Given the description of an element on the screen output the (x, y) to click on. 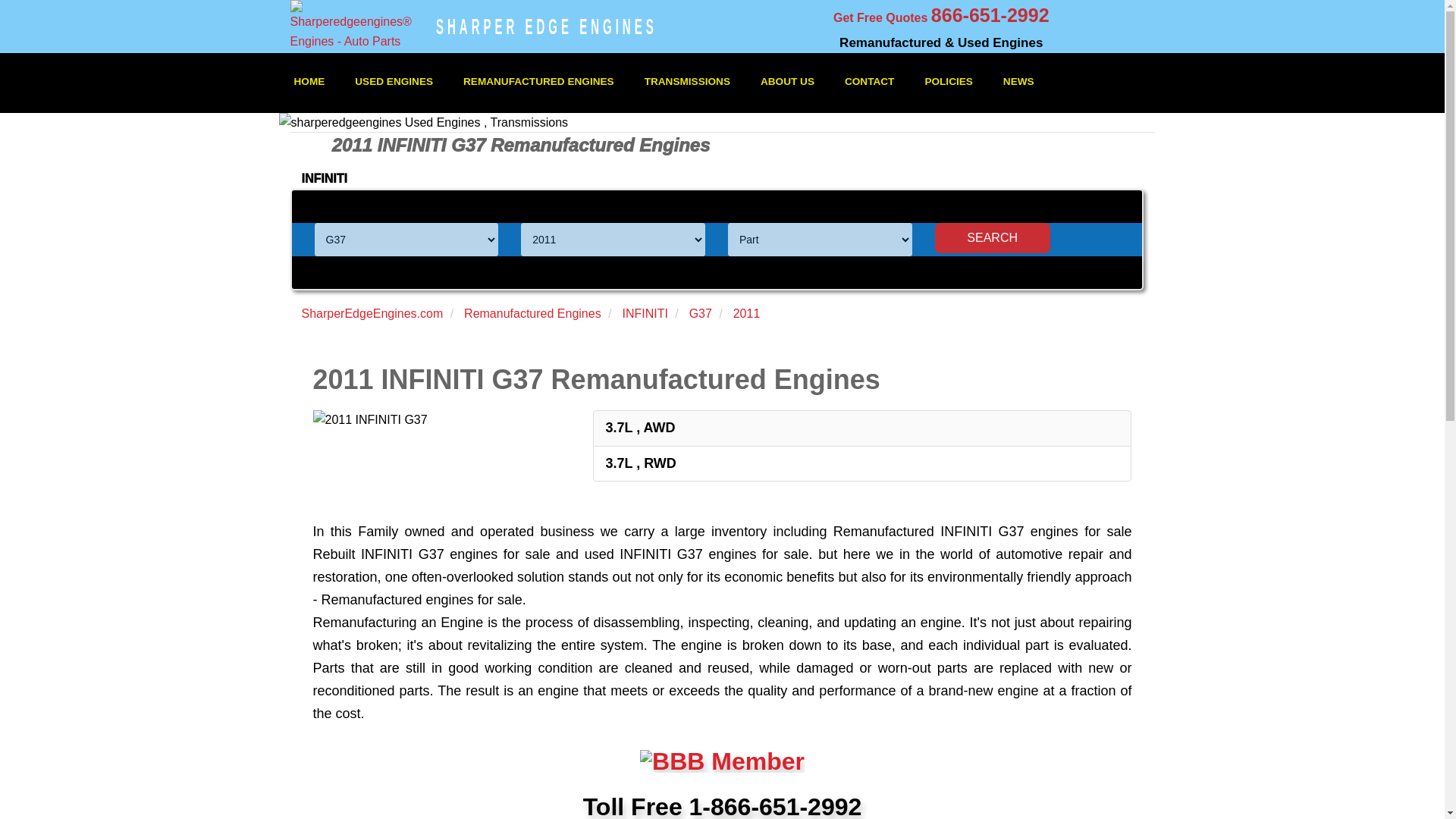
SharperEdgeEngines.com (372, 313)
About Sharperedgeengines (787, 81)
Remanufactured Engines (532, 313)
INFINITI (643, 313)
Remanufactured Engines (538, 81)
CONTACT (868, 81)
HOME (309, 81)
SHARPER EDGE ENGINES (546, 19)
Contact Sharperedgeengines (868, 81)
Used Engines (393, 81)
Sharperedgeengines policies (947, 81)
Search (991, 237)
3.7L , RWD (640, 462)
G37 (699, 313)
USED ENGINES (393, 81)
